Given the description of an element on the screen output the (x, y) to click on. 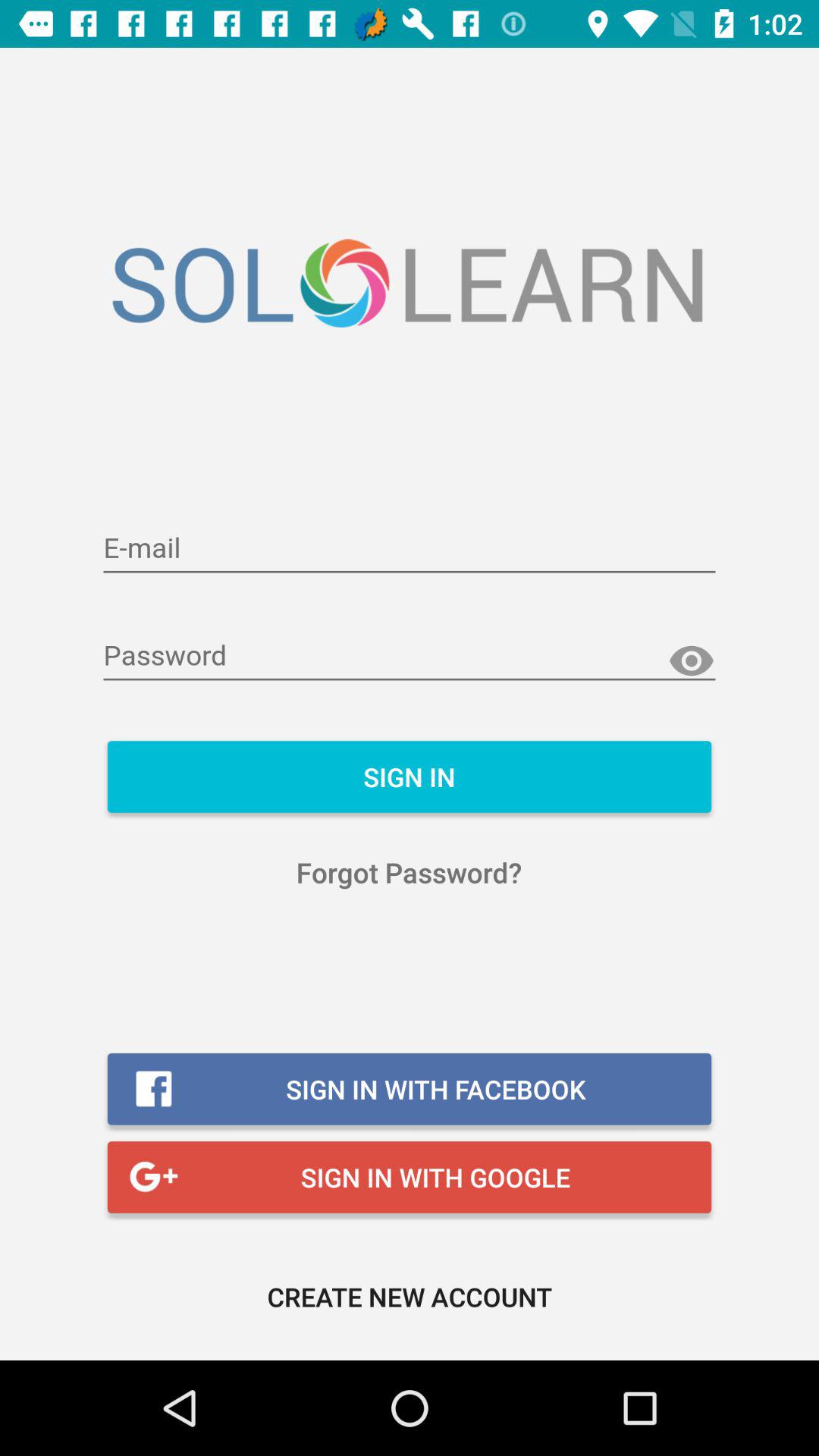
open the create new account icon (409, 1296)
